Given the description of an element on the screen output the (x, y) to click on. 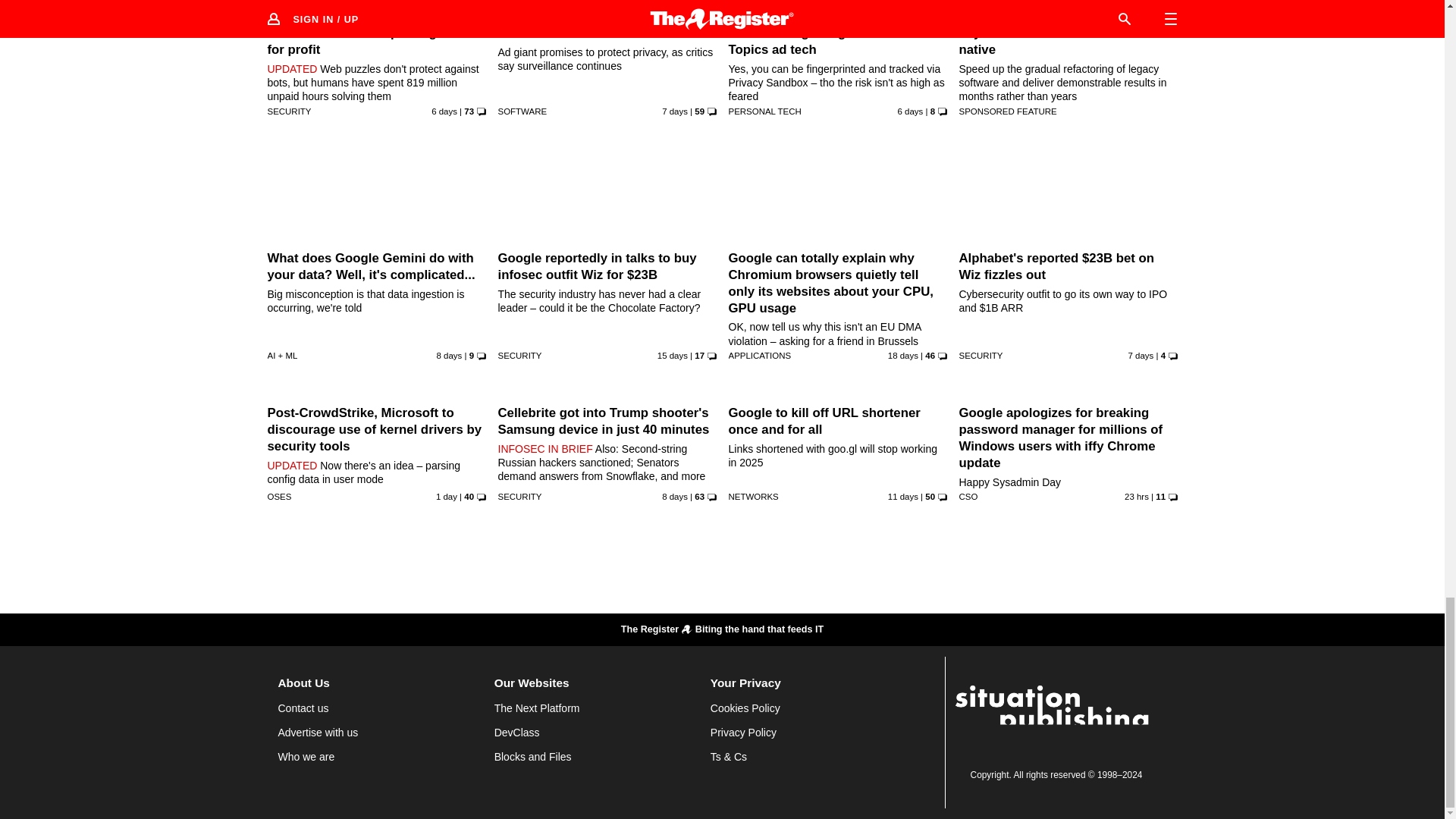
15 Jul 2024 4:39 (672, 355)
24 Jul 2024 6:33 (443, 111)
22 Jul 2024 19:15 (449, 355)
24 Jul 2024 20:44 (910, 111)
23 Jul 2024 0:3 (674, 111)
